Given the description of an element on the screen output the (x, y) to click on. 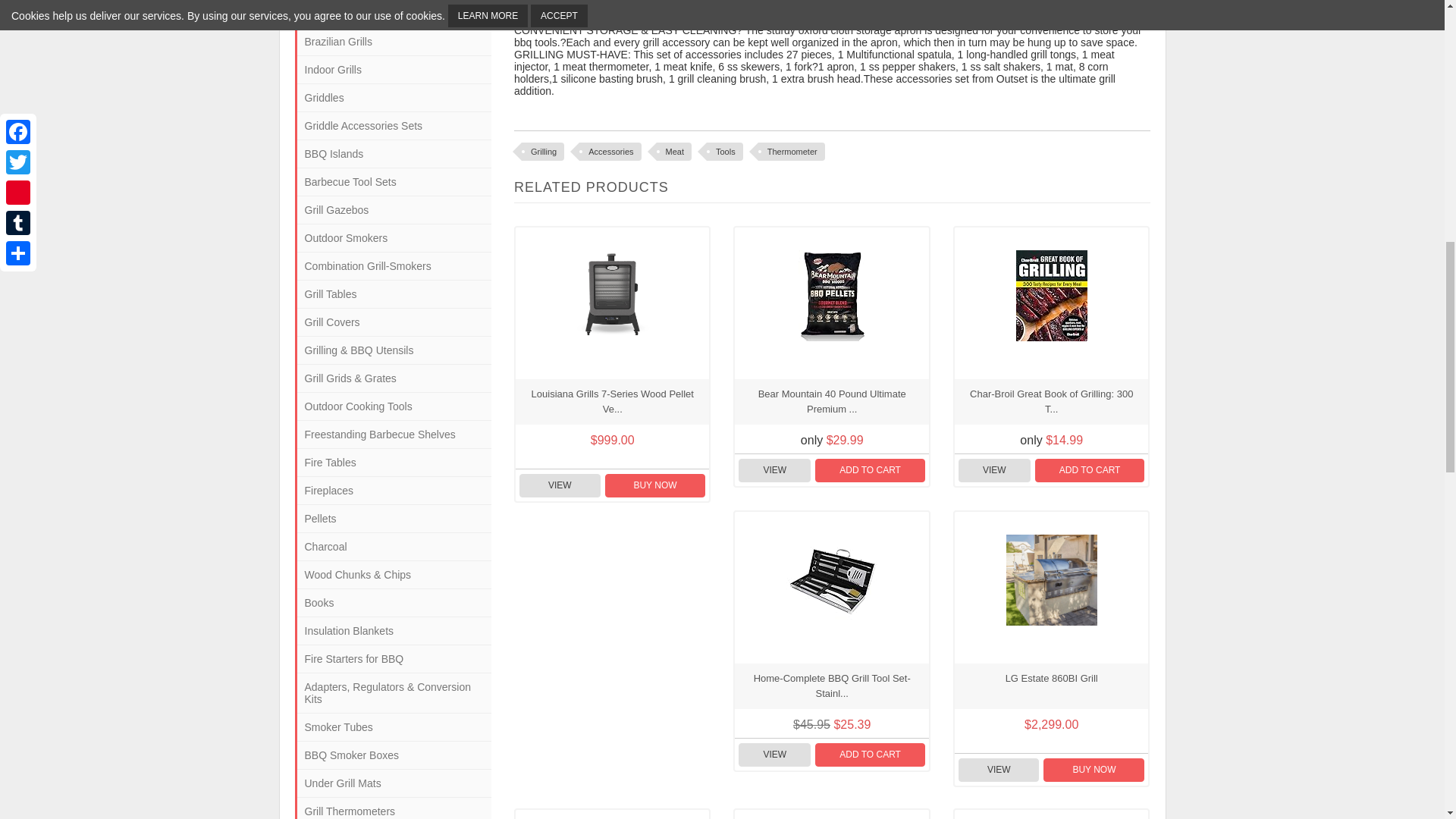
Louisiana Grills 7-Series Wood Pellet Ve... (612, 402)
Tools (724, 151)
Thermometer (791, 151)
Louisiana Grills 7-Series Wood Pellet Vertical Smoker (612, 295)
VIEW (559, 485)
Bear Mountain 40 Pound Ultimate Premium ... (831, 402)
Meat (673, 151)
VIEW (774, 470)
LG Estate 860BI Grill (1051, 579)
BUY NOW (655, 485)
ADD TO CART (869, 470)
Accessories (609, 151)
